Given the description of an element on the screen output the (x, y) to click on. 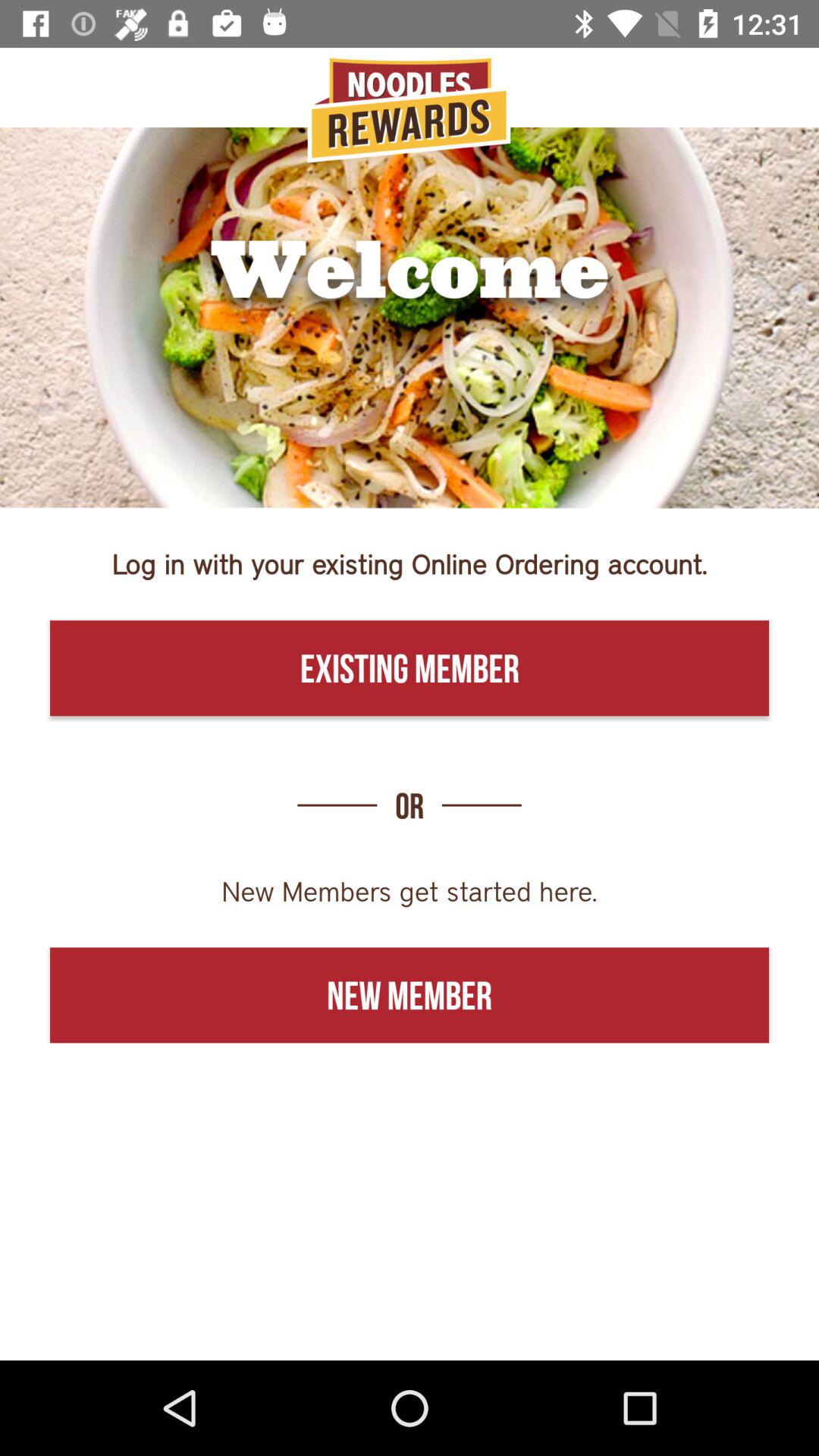
swipe until new member item (409, 995)
